Given the description of an element on the screen output the (x, y) to click on. 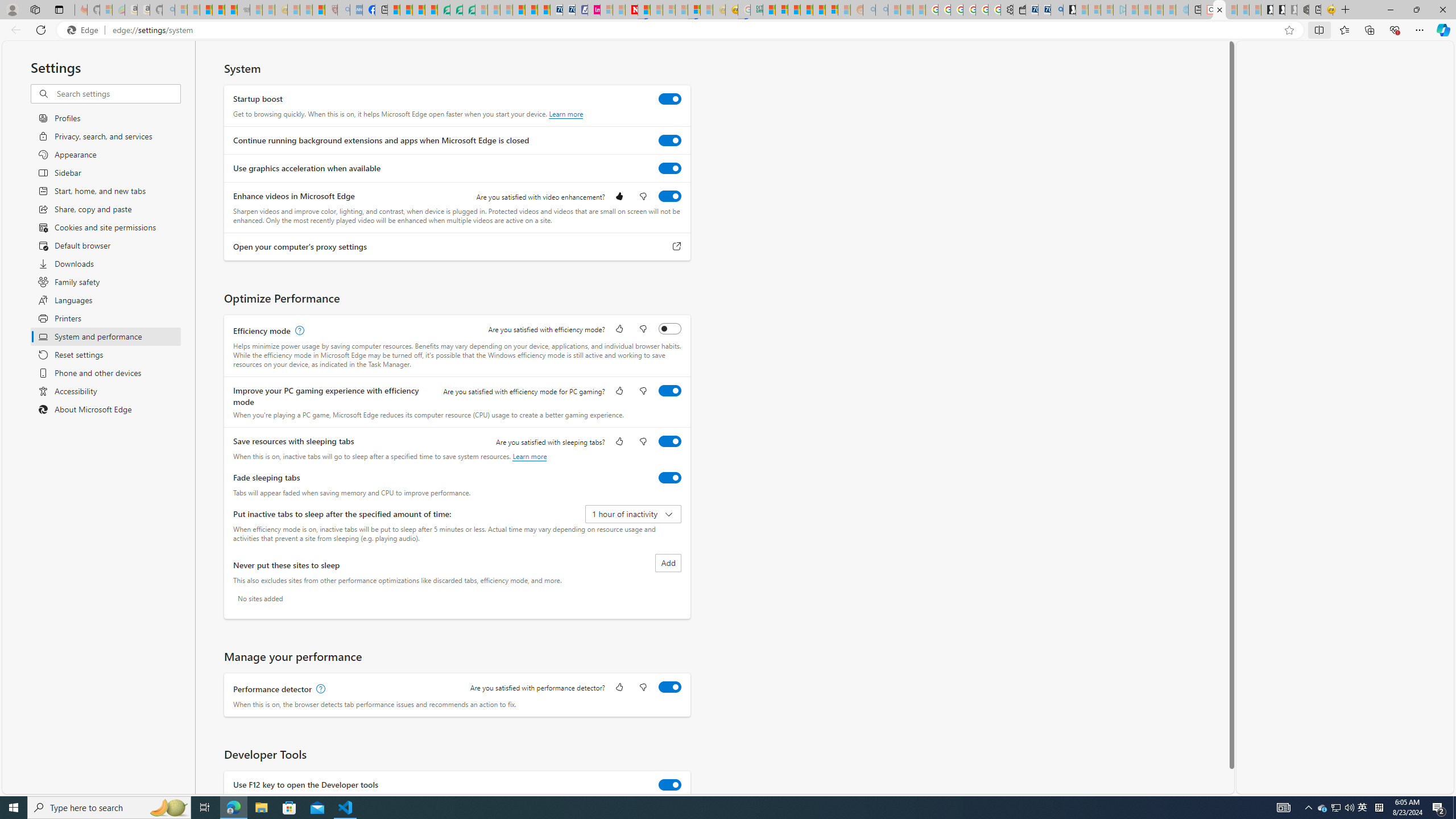
DITOGAMES AG Imprint (756, 9)
Copilot (Ctrl+Shift+.) (1442, 29)
list of asthma inhalers uk - Search - Sleeping (344, 9)
New tab (1315, 9)
Use graphics acceleration when available (669, 167)
The Weather Channel - MSN (205, 9)
Wallet (1019, 9)
